Given the description of an element on the screen output the (x, y) to click on. 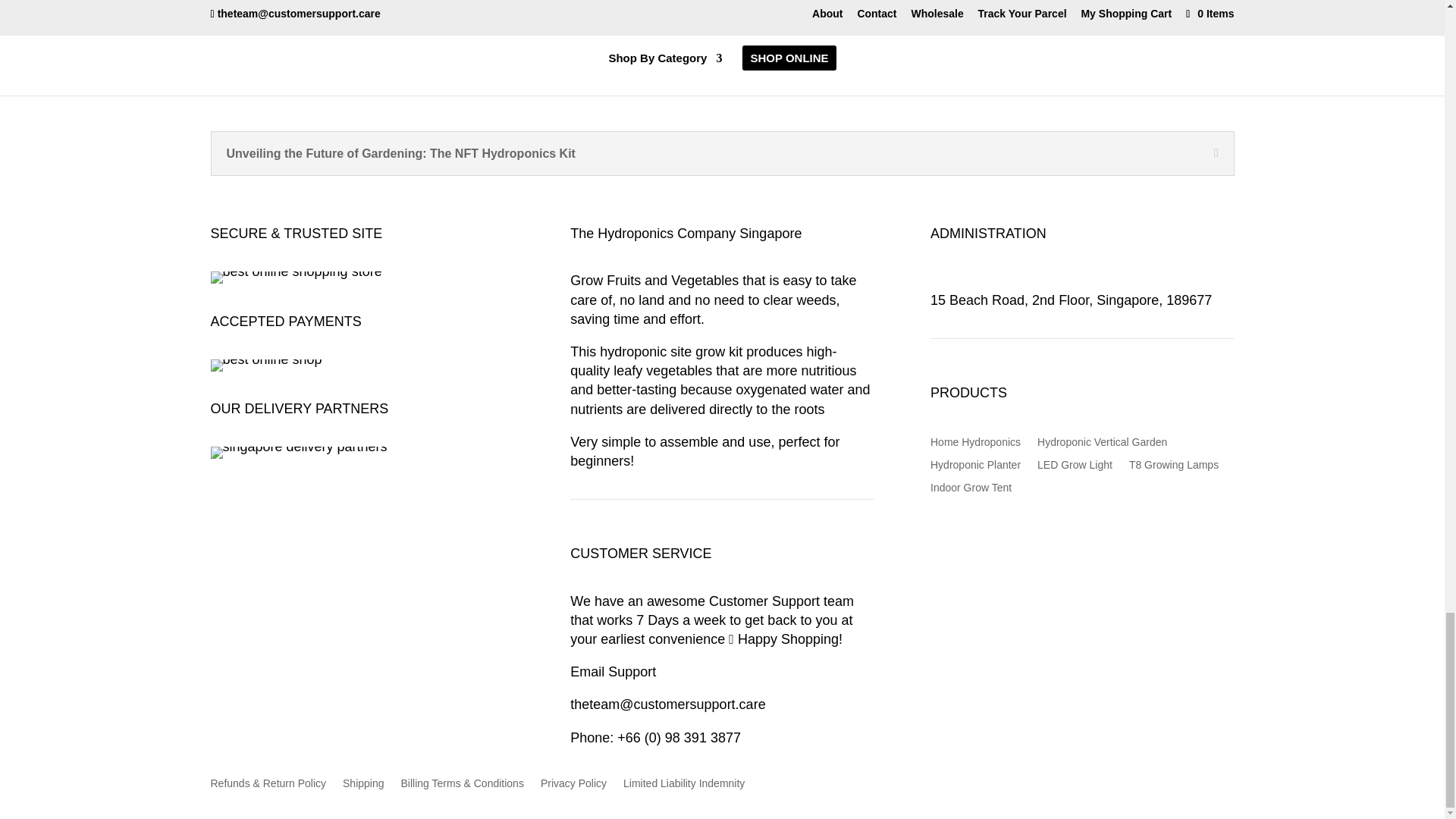
Limited Liability Indemnity (683, 786)
T8 Growing Lamps (1173, 467)
Hydroponic Planter (975, 467)
Indoor Grow Tent (970, 490)
Singapore (963, 280)
Hydroponic Vertical Garden (1101, 444)
Shipping (363, 786)
singapore-delivery-partners (299, 452)
shop-online (296, 277)
LED Grow Light (1074, 467)
